Given the description of an element on the screen output the (x, y) to click on. 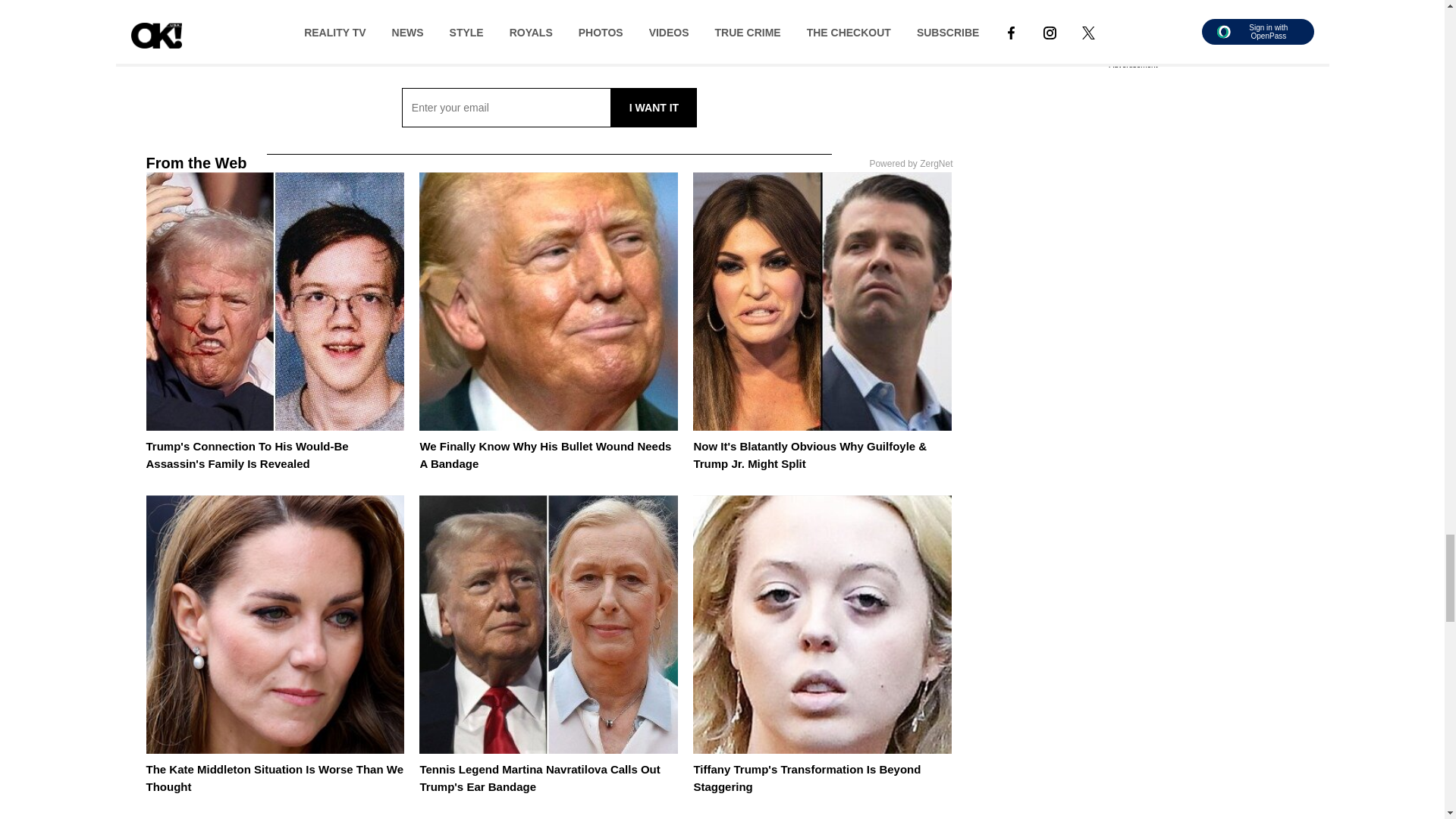
I WANT IT (654, 107)
